Given the description of an element on the screen output the (x, y) to click on. 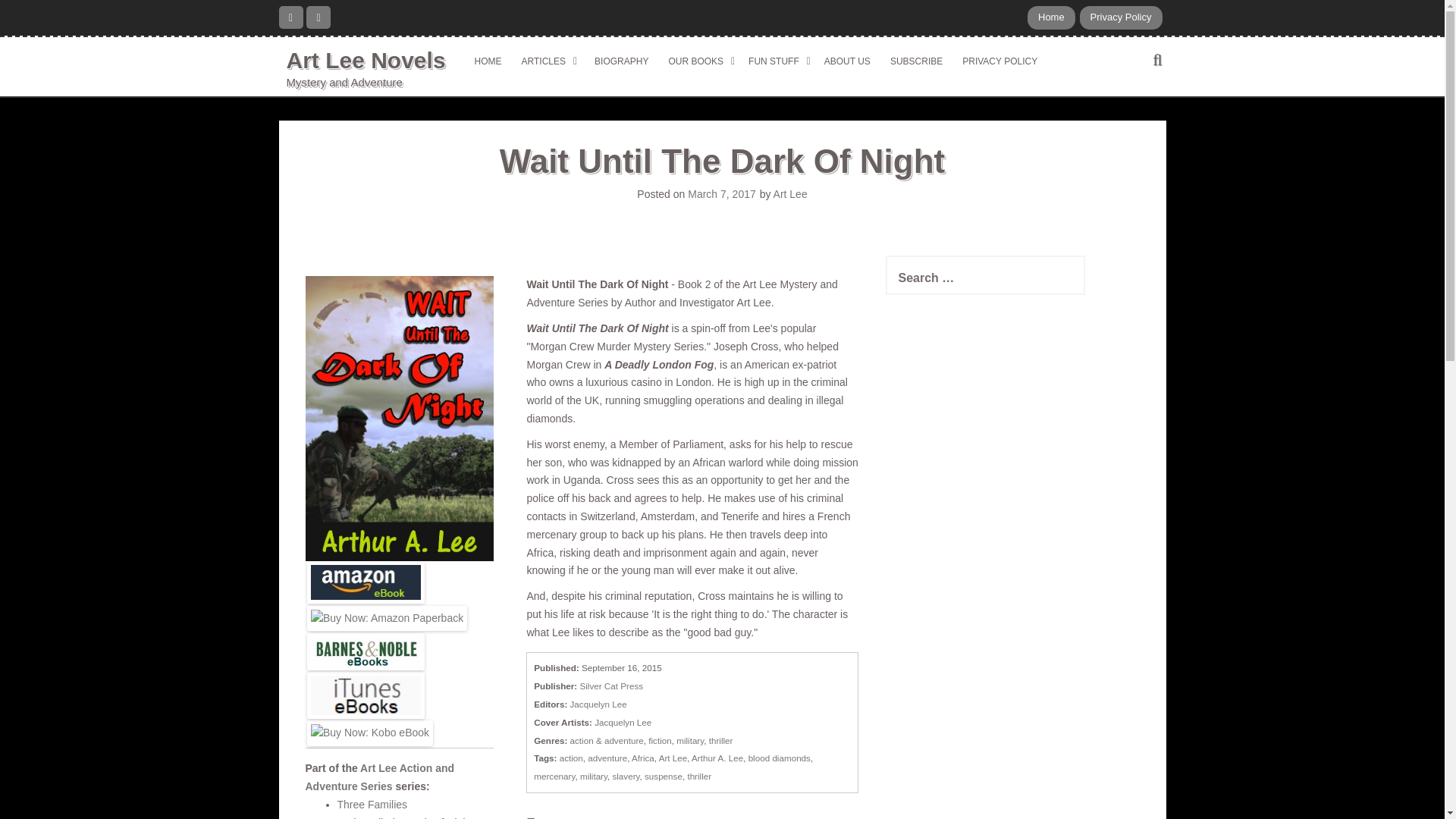
Privacy Policy (1120, 17)
HOME (488, 61)
ARTICLES (546, 61)
Home (1051, 17)
About The Author (1051, 17)
Art Lee (790, 193)
PRIVACY POLICY (999, 61)
BIOGRAPHY (619, 61)
OUR BOOKS (698, 61)
Three Families (371, 804)
